Given the description of an element on the screen output the (x, y) to click on. 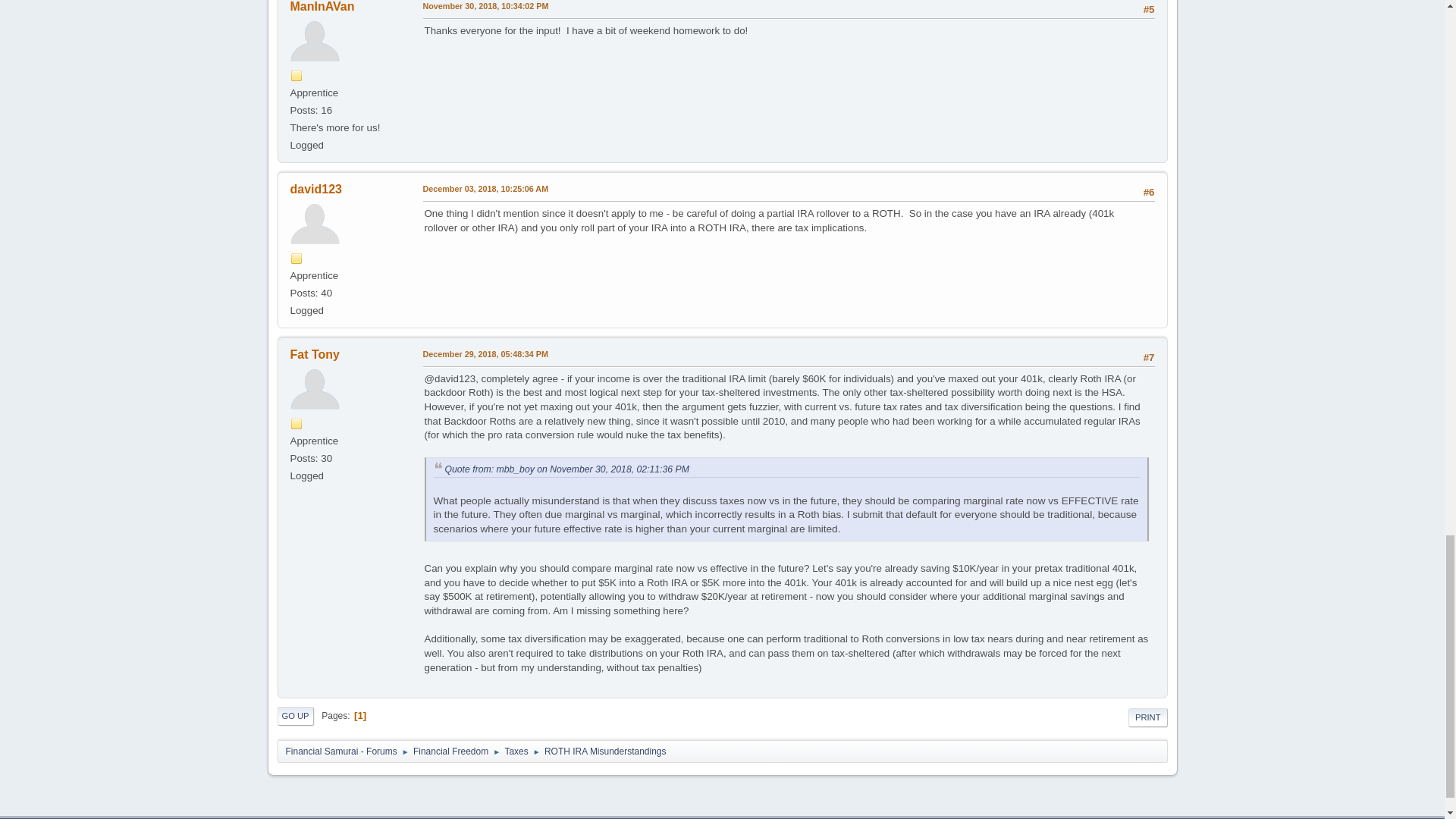
View the profile of david123 (314, 188)
View the profile of Fat Tony (314, 354)
ManInAVan (321, 6)
View the profile of ManInAVan (321, 6)
